Given the description of an element on the screen output the (x, y) to click on. 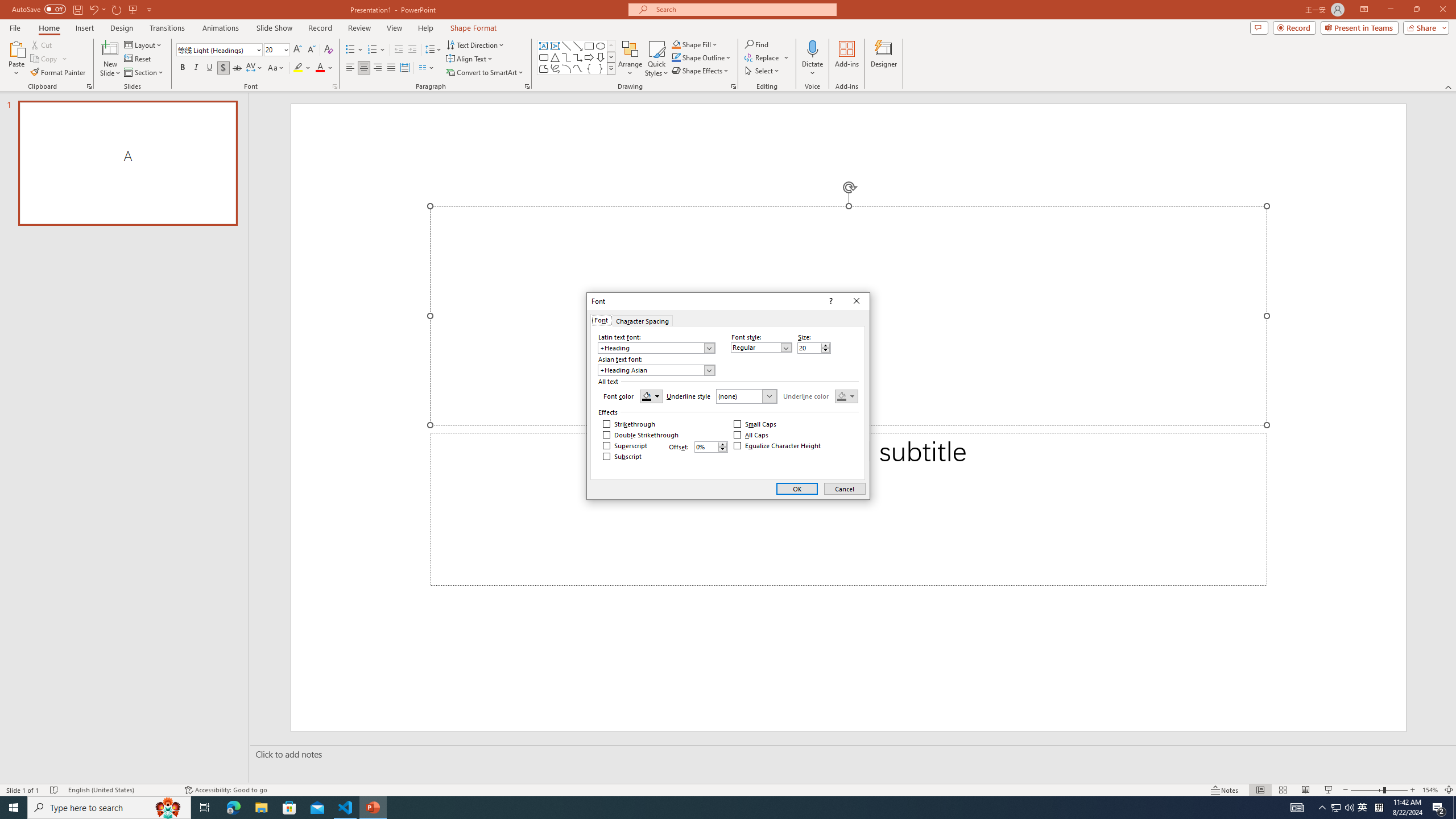
Microsoft search (742, 9)
Format Object... (733, 85)
File Explorer (261, 807)
Left Brace (589, 68)
Office Clipboard... (88, 85)
Replace... (767, 56)
Class: MsoCommandBar (728, 789)
Paste (16, 58)
Latin text font (651, 347)
Font (600, 319)
Less (722, 449)
